Given the description of an element on the screen output the (x, y) to click on. 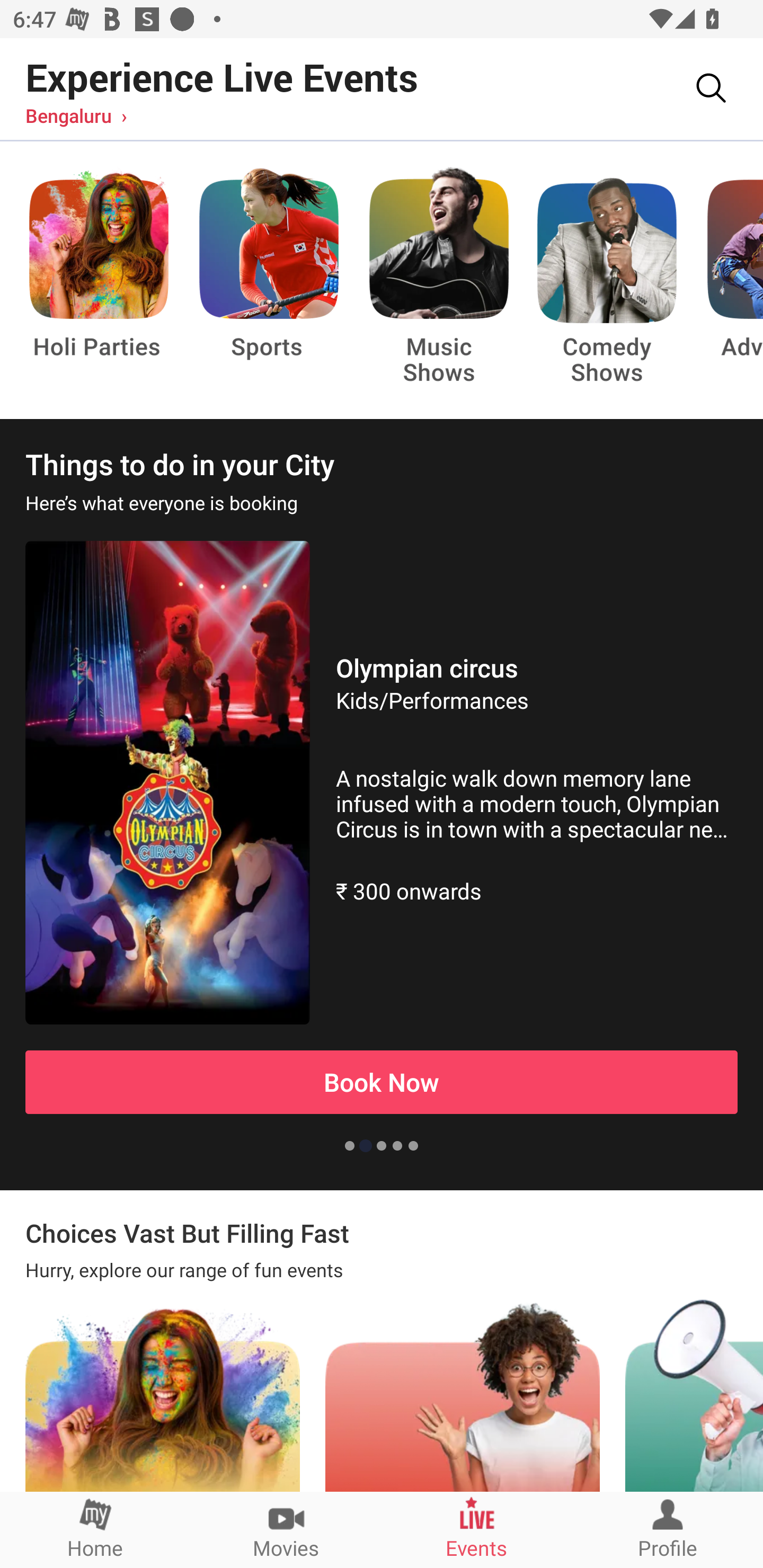
Bengaluru  › (76, 114)
Book Now (381, 1081)
Home (95, 1529)
Movies (285, 1529)
Events (476, 1529)
Profile (667, 1529)
